Given the description of an element on the screen output the (x, y) to click on. 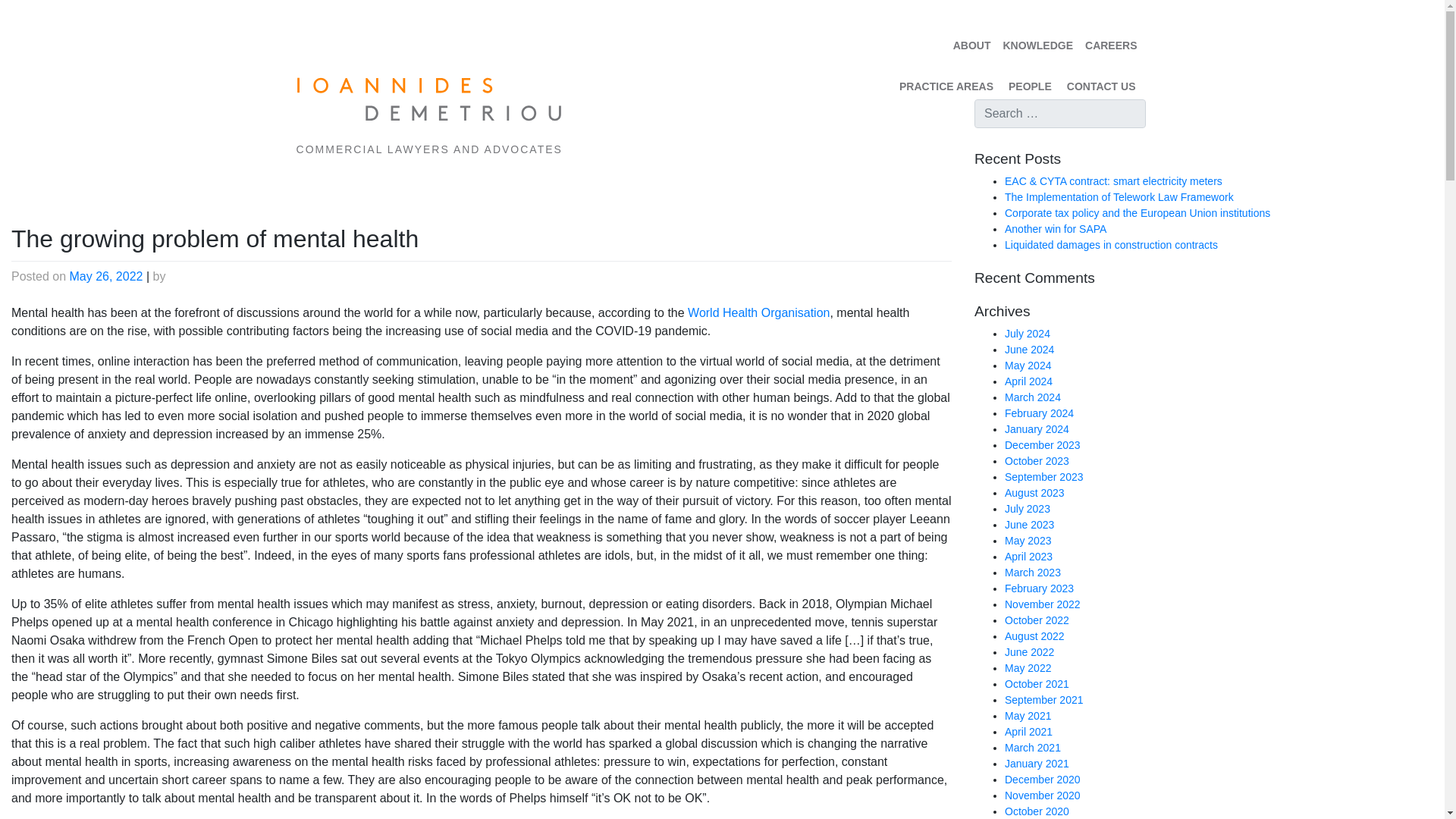
ABOUT (972, 45)
The Implementation of Telework Law Framework (1118, 196)
CAREERS (1110, 45)
CONTACT US (1100, 83)
ABOUT (972, 45)
World Health Organisation (758, 312)
CAREERS (1110, 45)
PEOPLE (1030, 83)
KNOWLEDGE (1036, 45)
Search (29, 14)
